Given the description of an element on the screen output the (x, y) to click on. 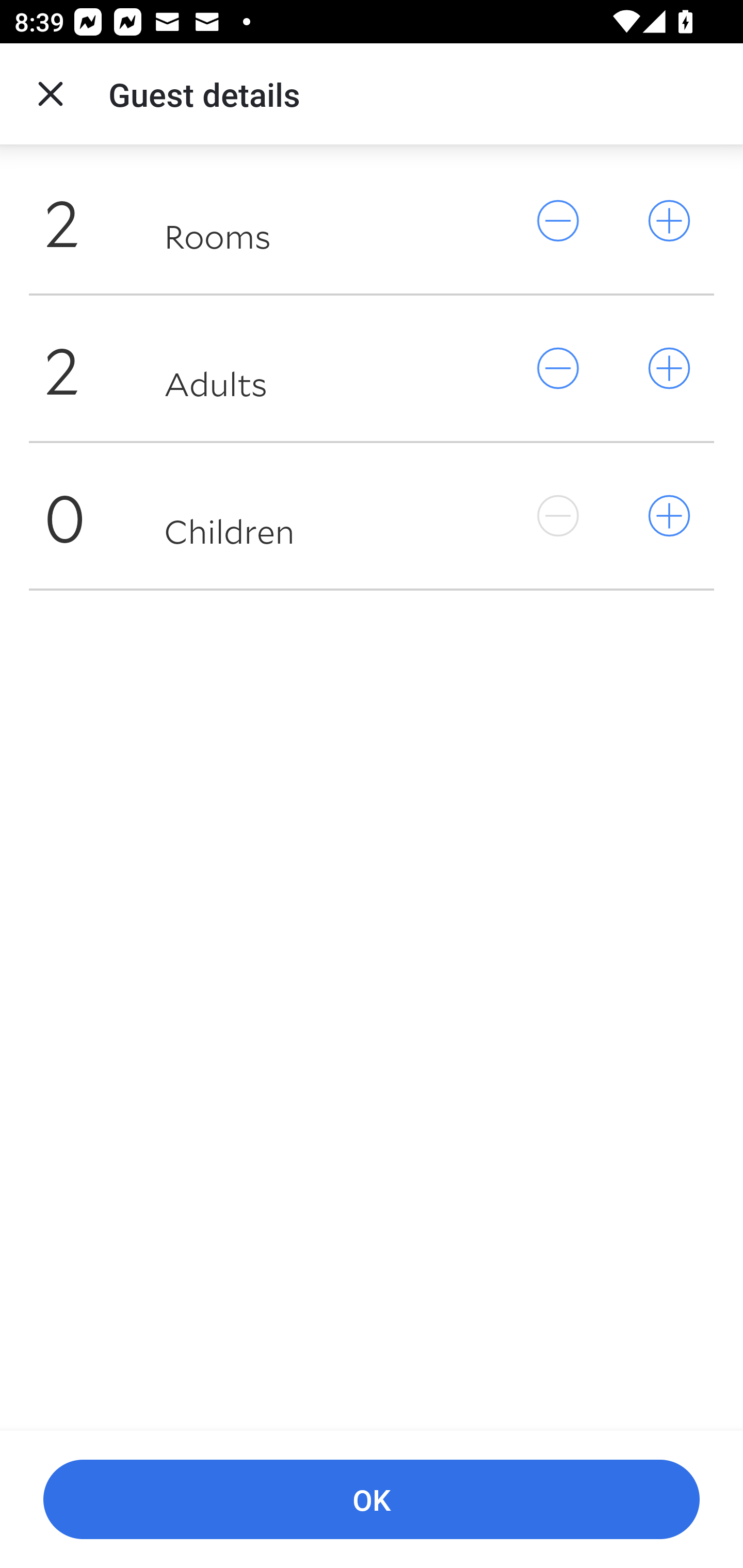
OK (371, 1499)
